Given the description of an element on the screen output the (x, y) to click on. 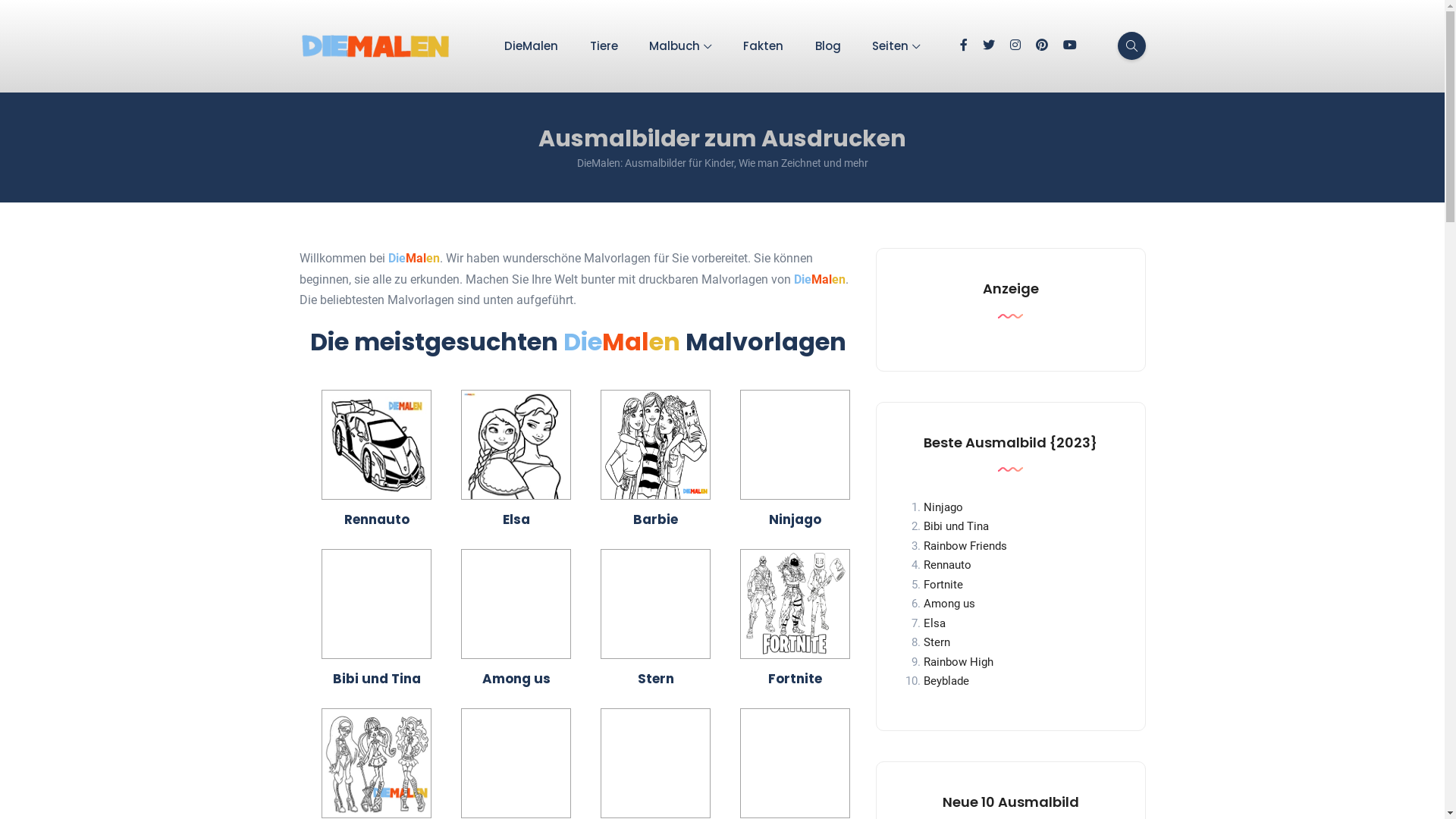
Fortnite Element type: text (943, 584)
Beyblade Element type: text (946, 680)
Fakten Element type: text (763, 46)
Ninjago Element type: text (943, 507)
Among us Element type: text (949, 603)
Seiten Element type: text (895, 46)
Rennauto Element type: text (947, 564)
Rennauto Ausmalbilder Element type: hover (375, 444)
Barbie Ausmalbilder Element type: hover (655, 444)
Rainbow High Element type: text (958, 661)
Stern Element type: text (936, 642)
Elsa Ausmalbilder Element type: hover (515, 444)
Rainbow Friends Element type: text (965, 545)
Blog Element type: text (827, 46)
DieMalen Element type: text (531, 46)
Tiere Element type: text (603, 46)
Malbuch Element type: text (680, 46)
Bibi und Tina Element type: text (955, 526)
Elsa Element type: text (934, 623)
